Given the description of an element on the screen output the (x, y) to click on. 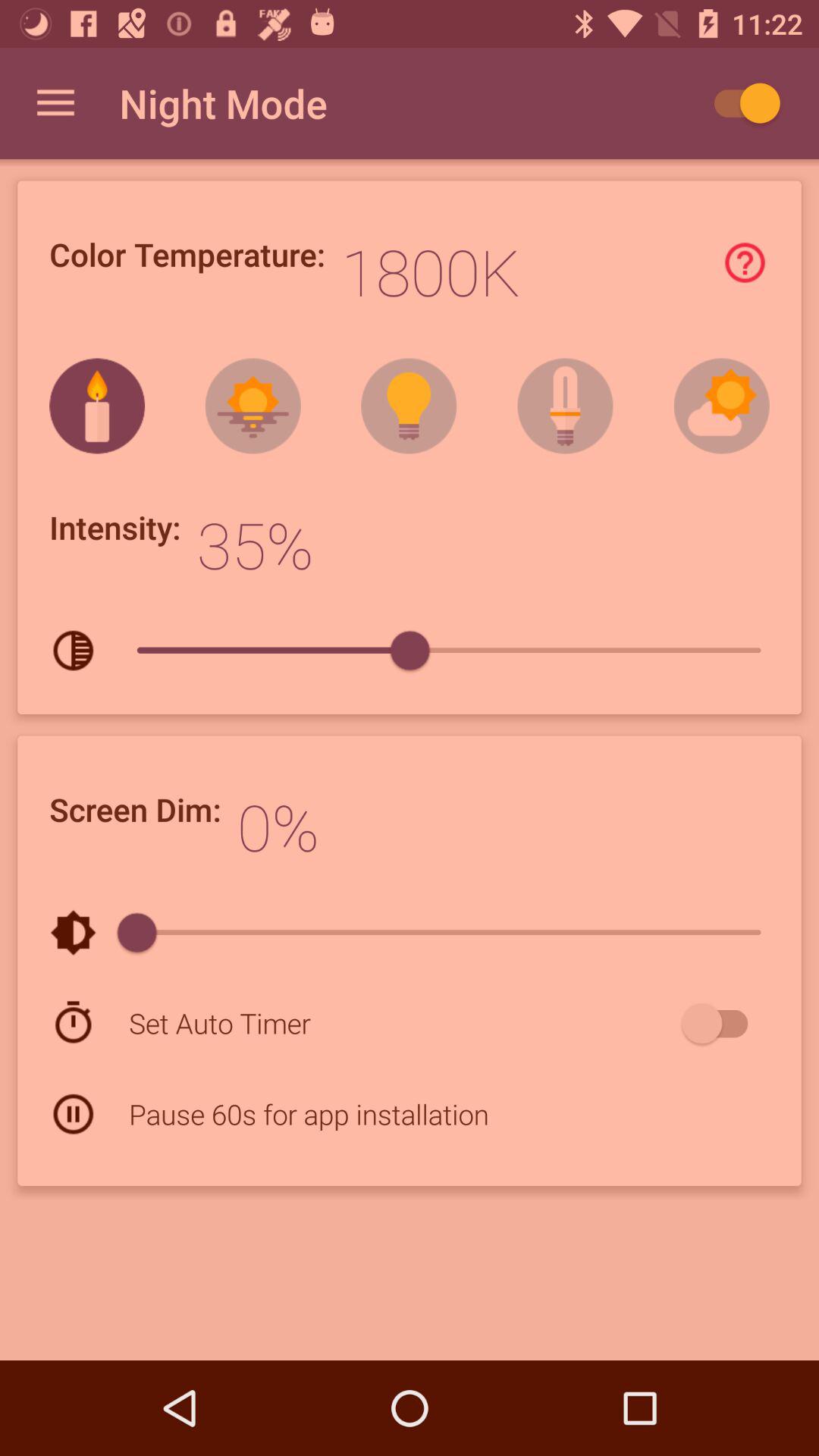
click the app to the right of the night mode app (739, 103)
